Given the description of an element on the screen output the (x, y) to click on. 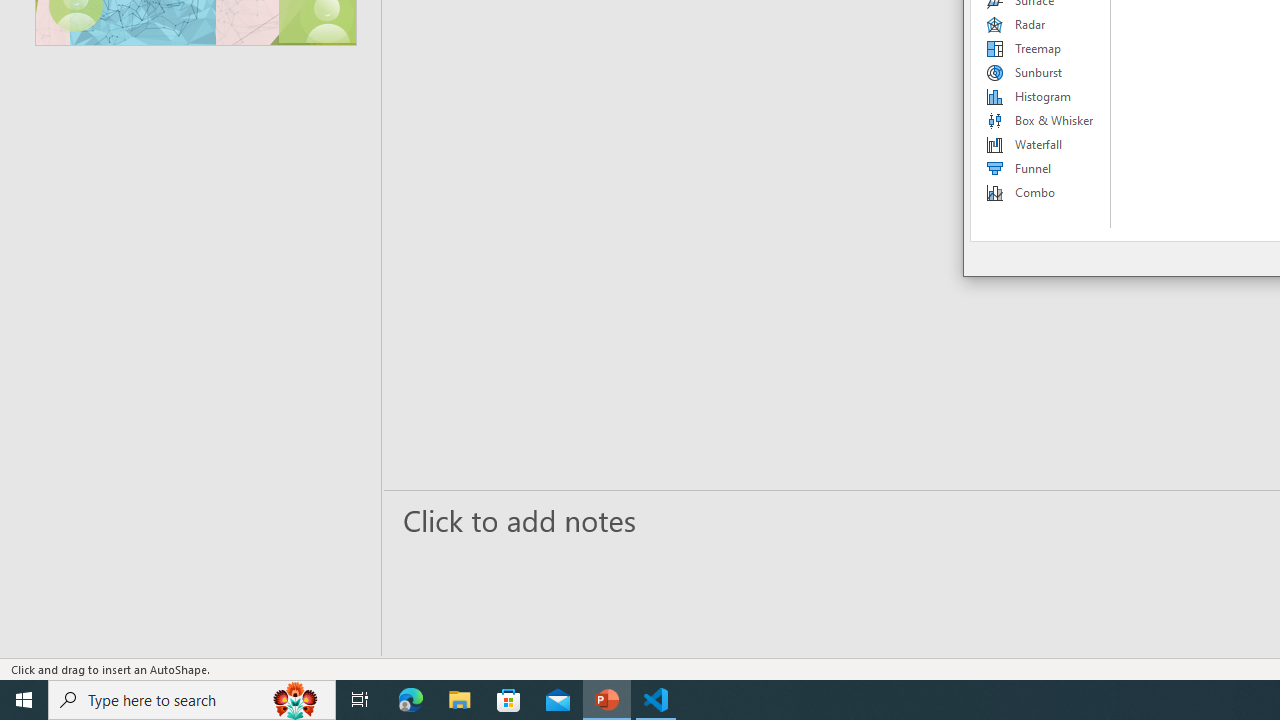
Combo (1041, 192)
Treemap (1041, 48)
Funnel (1041, 168)
Histogram (1041, 96)
Radar (1041, 24)
Box & Whisker (1041, 120)
Waterfall (1041, 144)
